Given the description of an element on the screen output the (x, y) to click on. 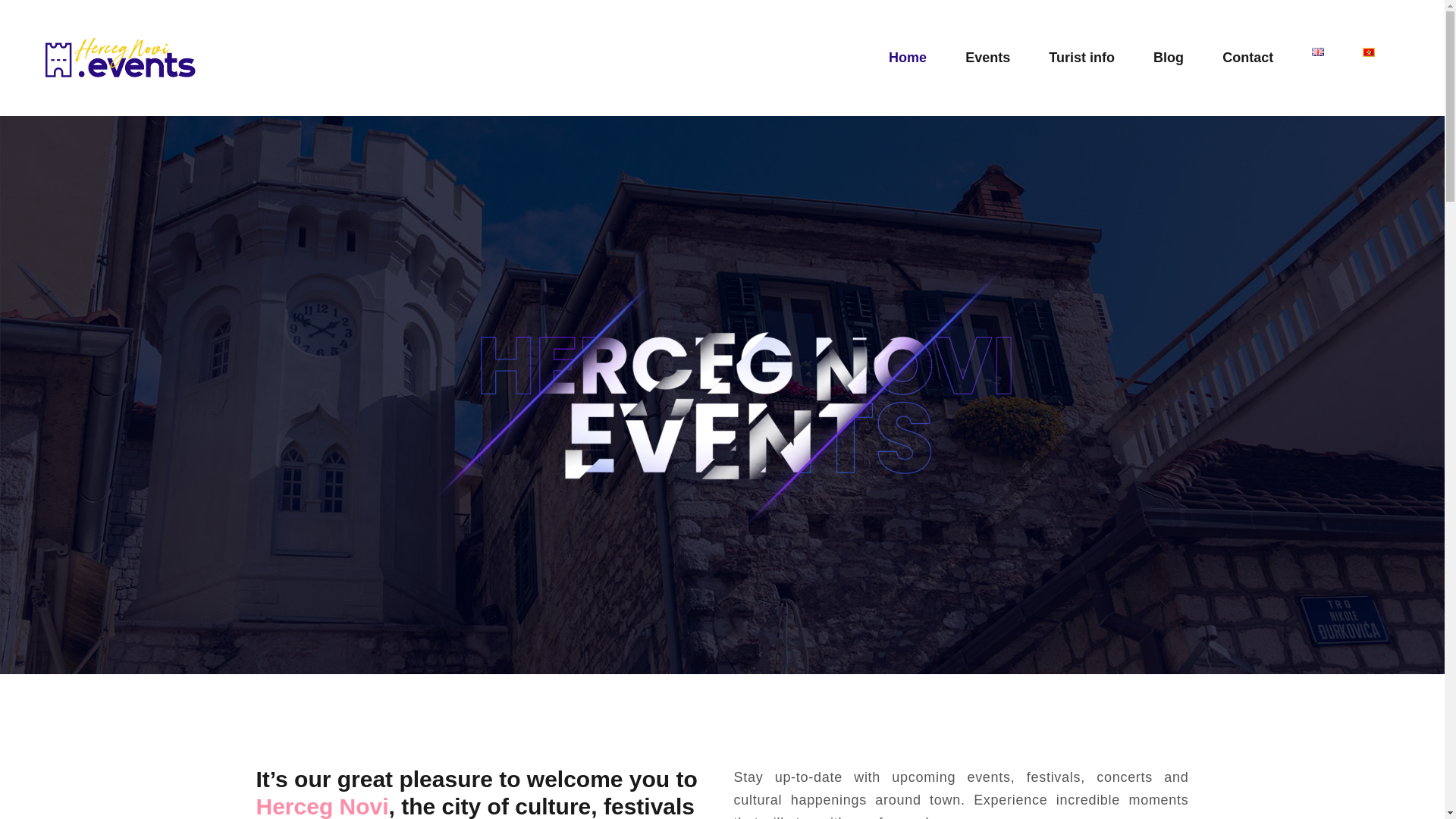
Turist info (1081, 57)
Contact (1248, 57)
Events (987, 57)
Home (907, 57)
Blog (1169, 57)
